Given the description of an element on the screen output the (x, y) to click on. 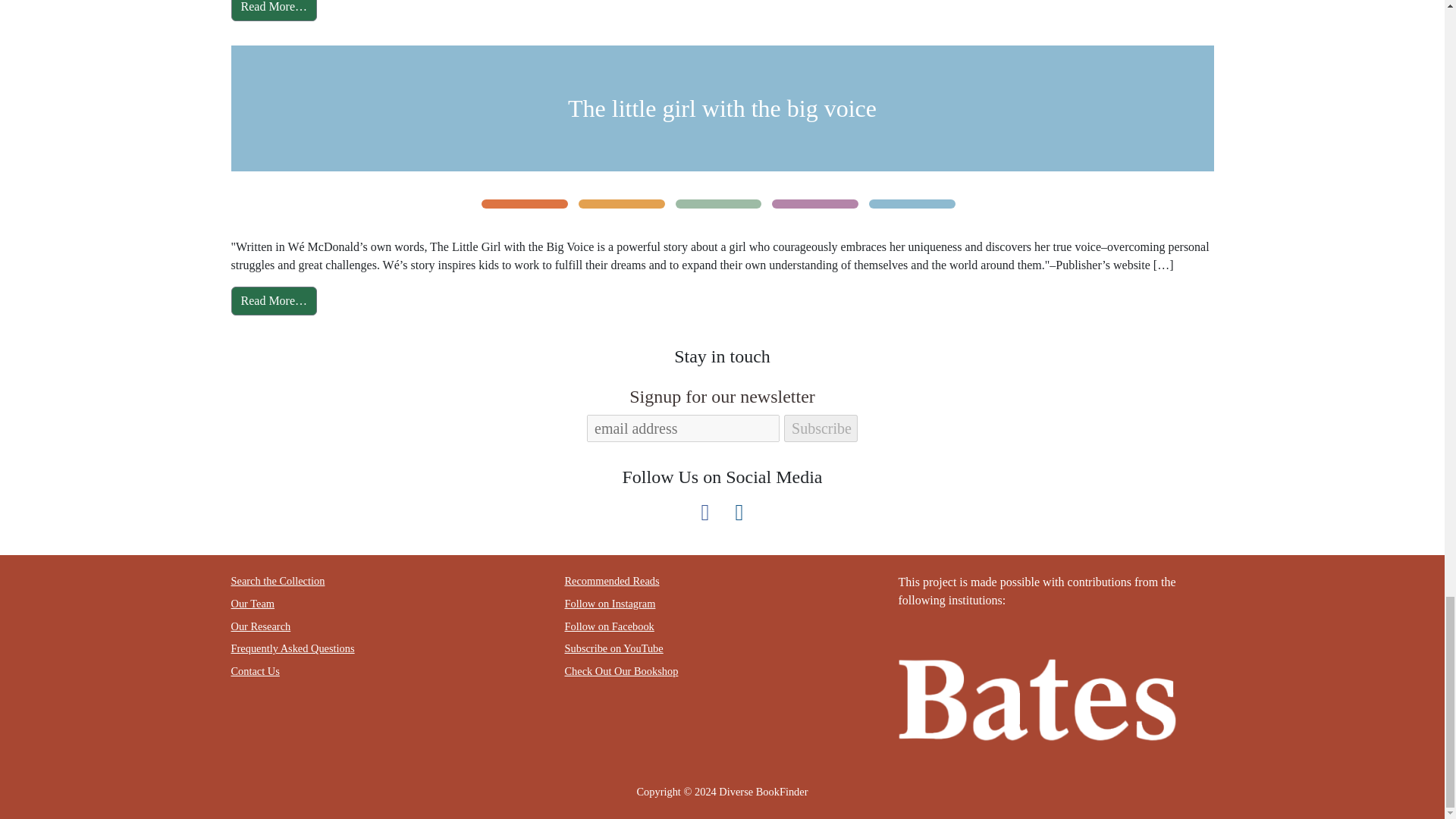
Subscribe (820, 428)
The little girl with the big voice (721, 108)
Subscribe (820, 428)
